Given the description of an element on the screen output the (x, y) to click on. 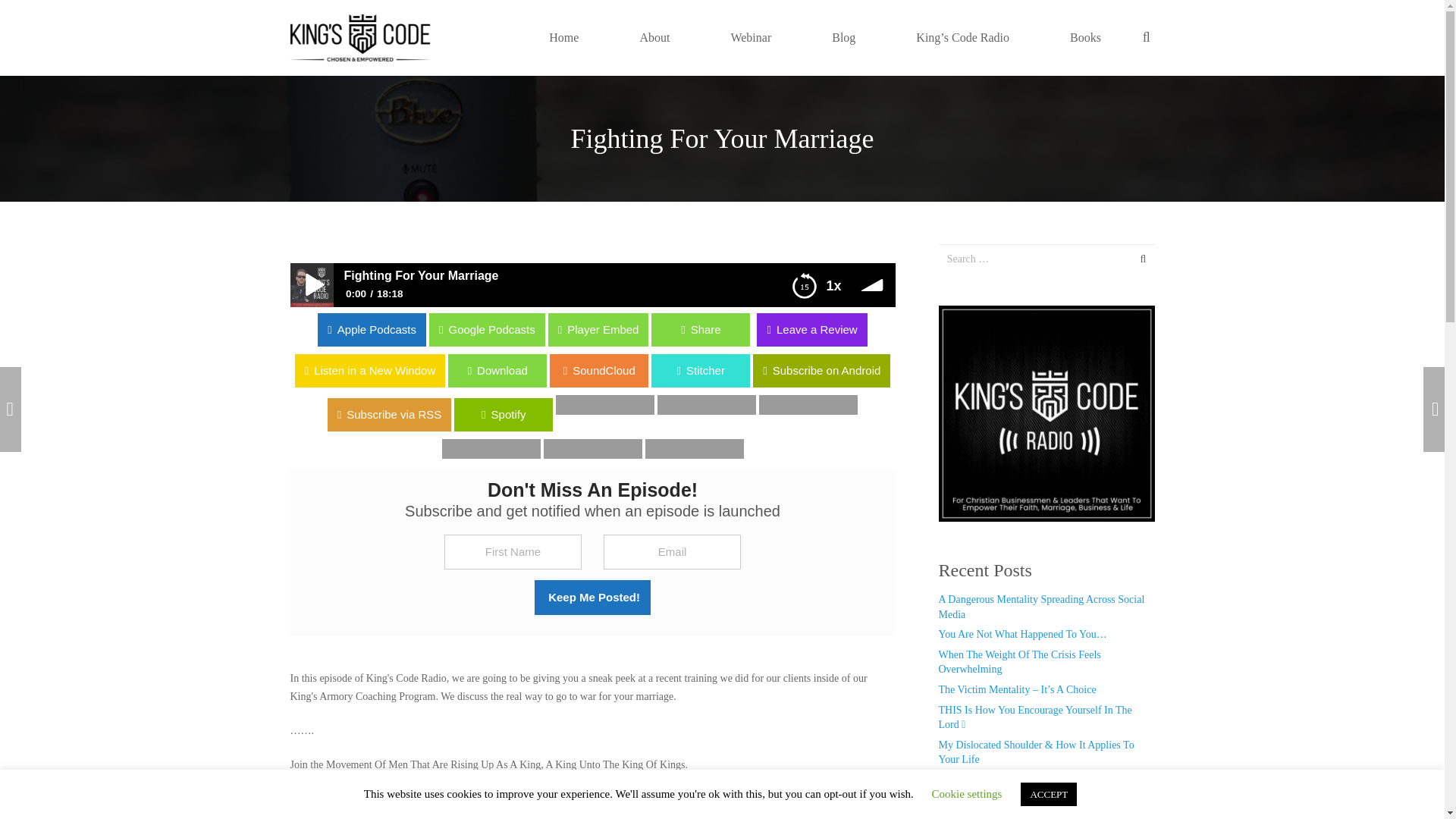
Download (49, 370)
Webinar (751, 37)
About (654, 37)
Apple Podcasts (483, 329)
Google Podcasts (58, 329)
 Keep Me Posted! (592, 597)
Blog (843, 37)
Player Embed (50, 329)
Leave a Review (811, 329)
Subscribe via RSS (61, 411)
